Given the description of an element on the screen output the (x, y) to click on. 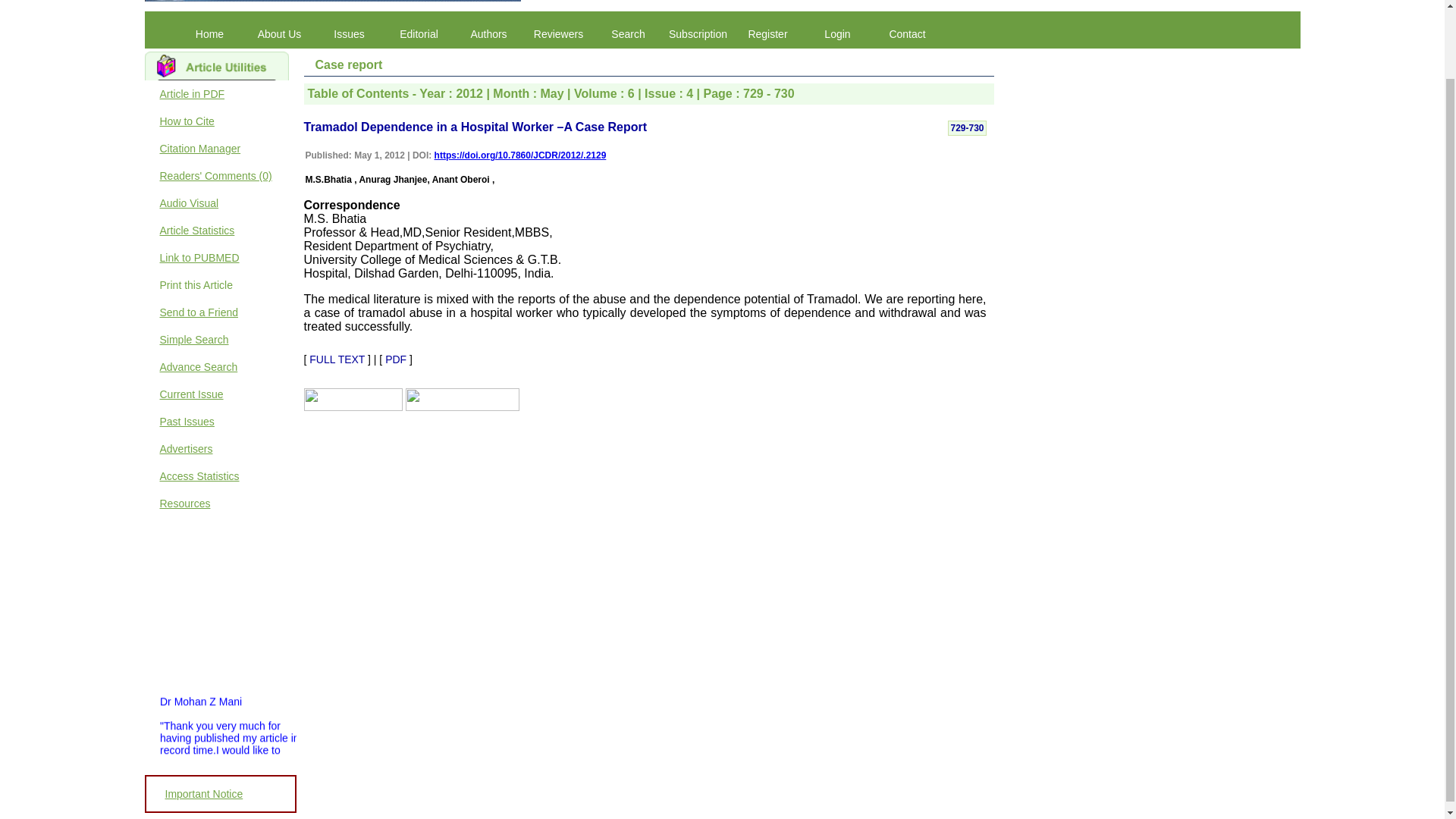
About Us (279, 34)
Home (209, 34)
Reviewers (557, 34)
Editorial (418, 34)
Authors (487, 34)
Issues (349, 34)
